Given the description of an element on the screen output the (x, y) to click on. 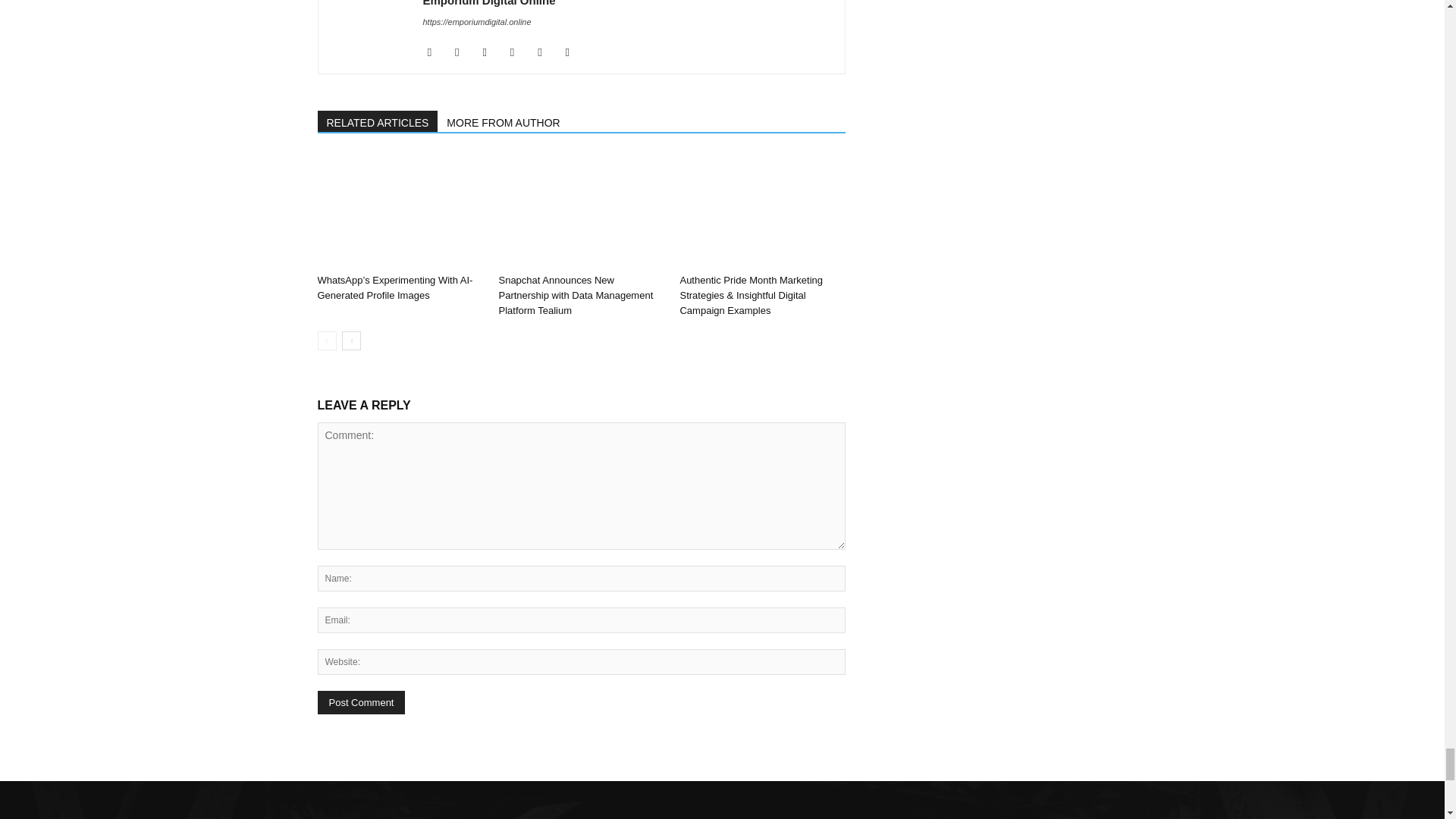
Post Comment (360, 702)
